Given the description of an element on the screen output the (x, y) to click on. 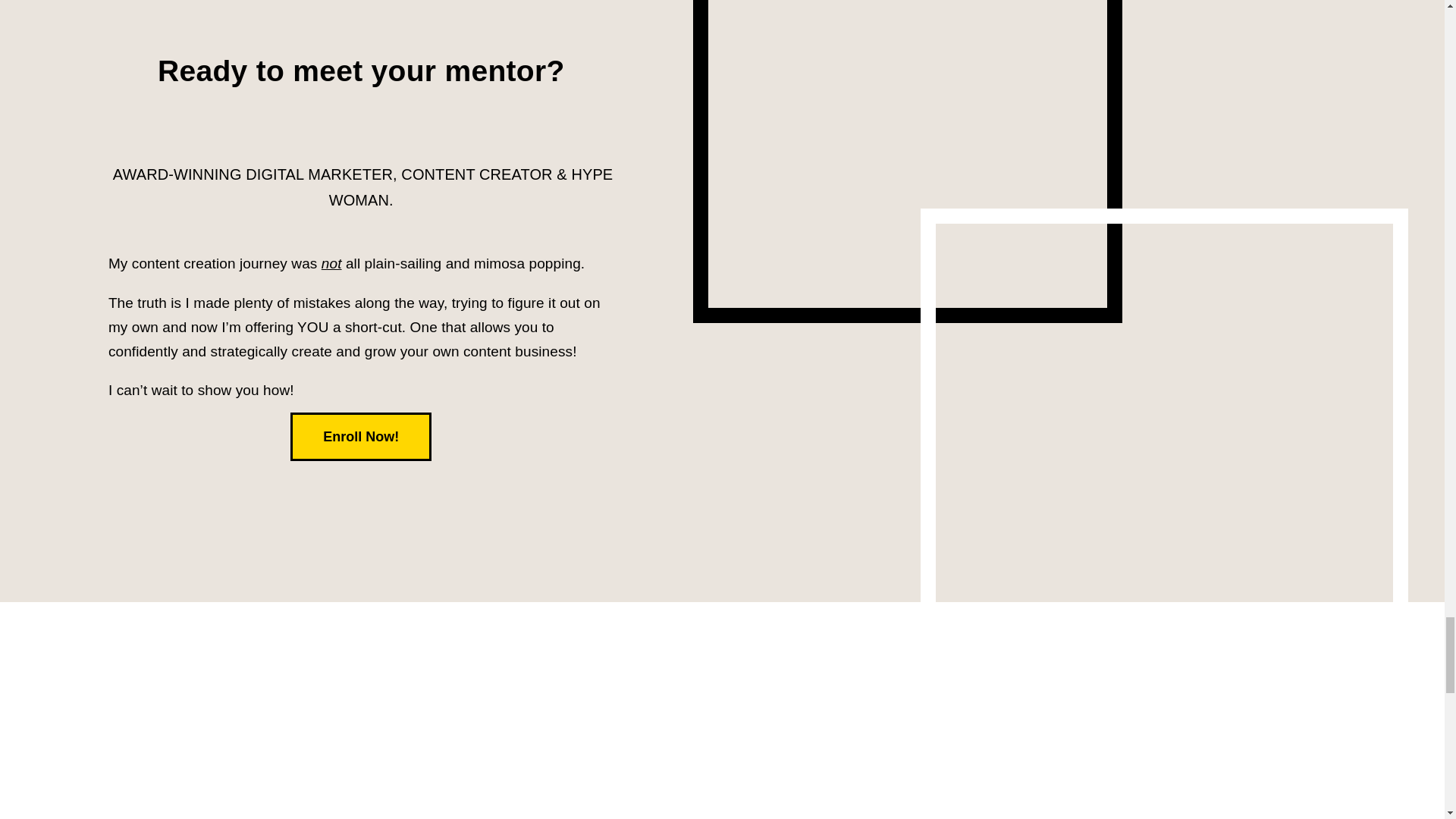
Enroll Now! (359, 436)
